Given the description of an element on the screen output the (x, y) to click on. 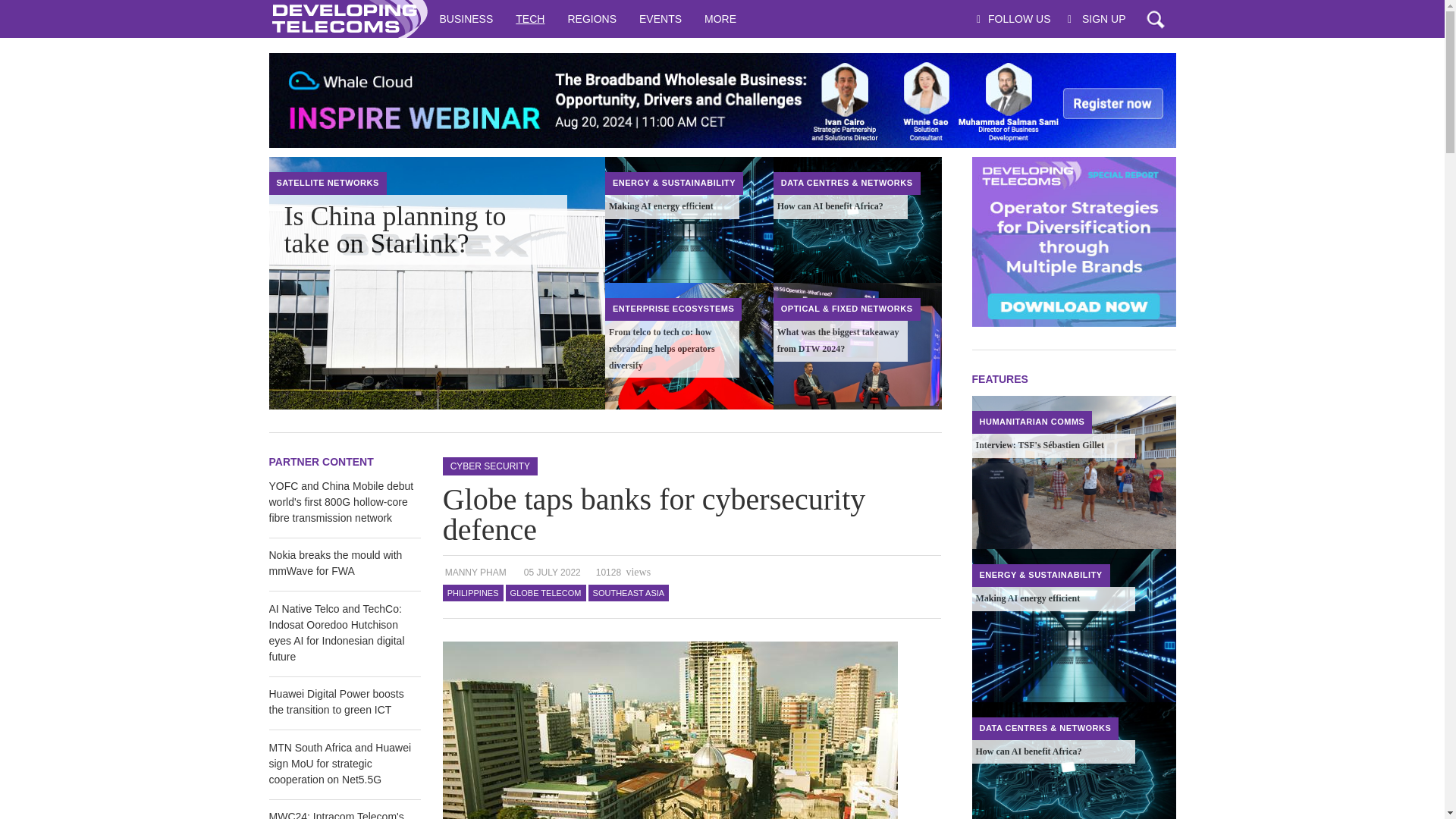
BUSINESS (465, 18)
Developing Telecoms (347, 18)
REGIONS (591, 18)
Satellite Networks (327, 182)
Click to follow link (720, 100)
TECH (529, 18)
